Given the description of an element on the screen output the (x, y) to click on. 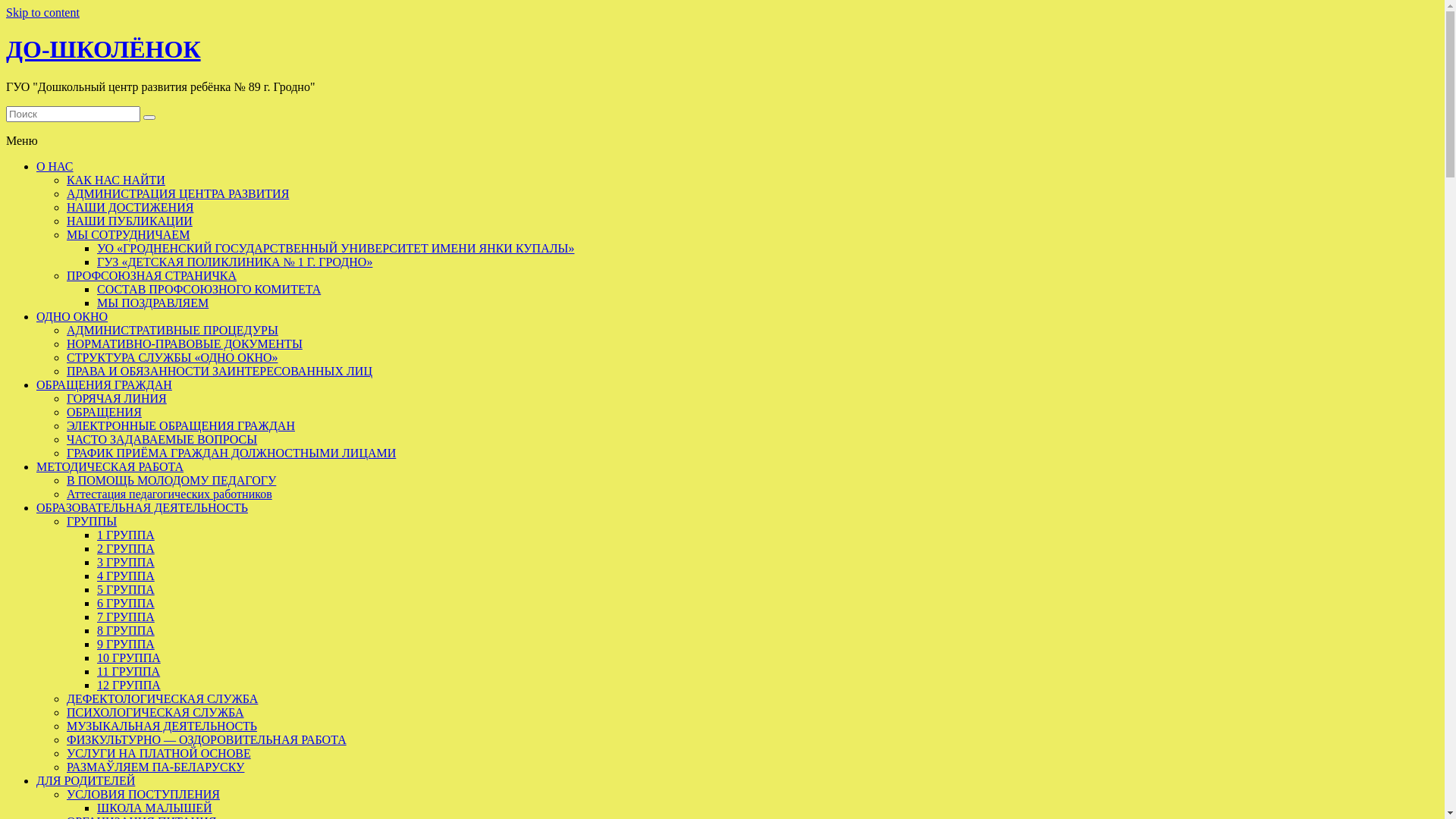
Skip to content Element type: text (42, 12)
